Given the description of an element on the screen output the (x, y) to click on. 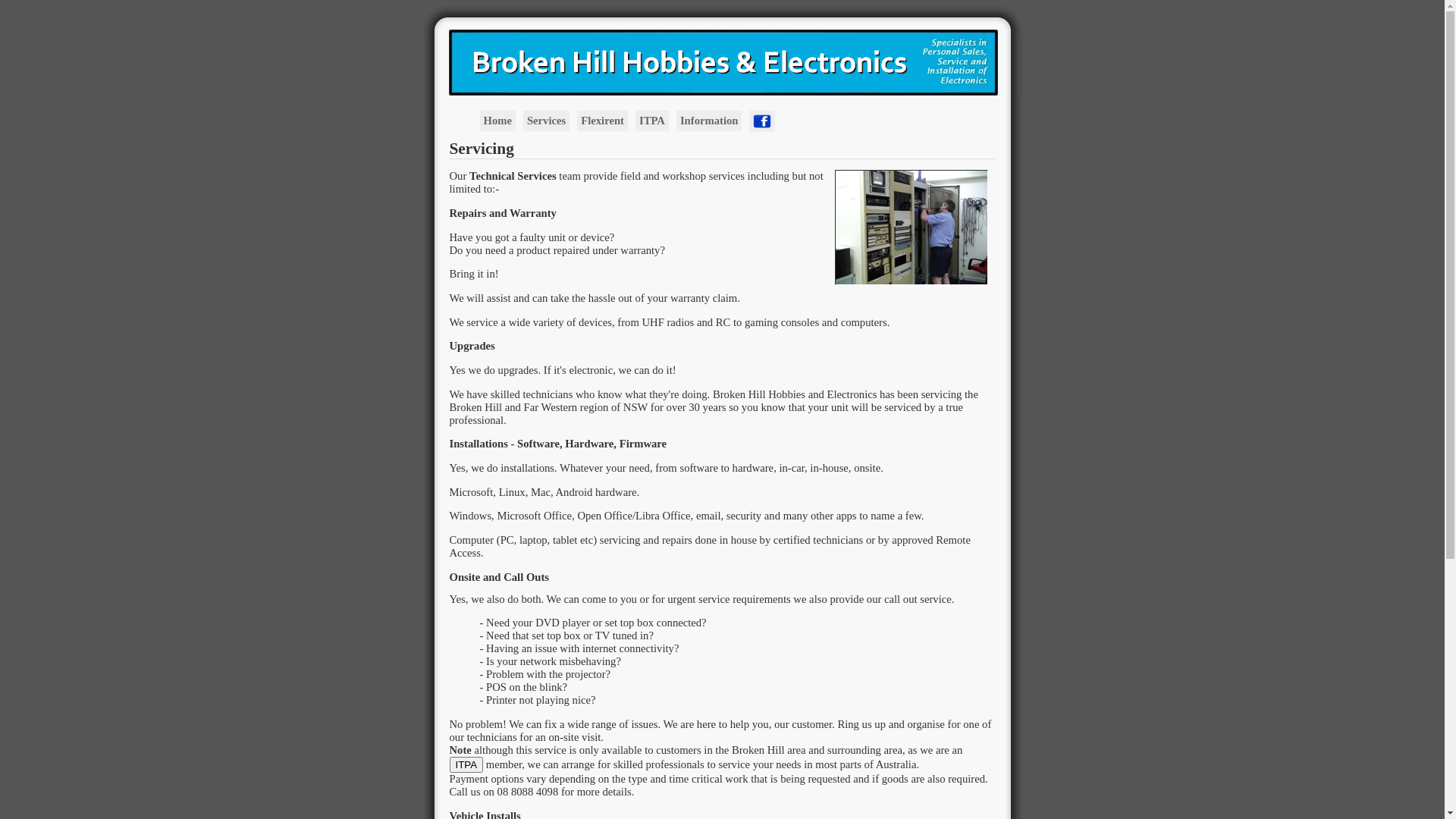
ITPA Element type: text (465, 764)
Flexirent Element type: text (602, 120)
ITPA Element type: text (651, 120)
ITPA Element type: text (465, 764)
Home Element type: text (496, 120)
Information Element type: text (709, 120)
Services Element type: text (546, 120)
